Given the description of an element on the screen output the (x, y) to click on. 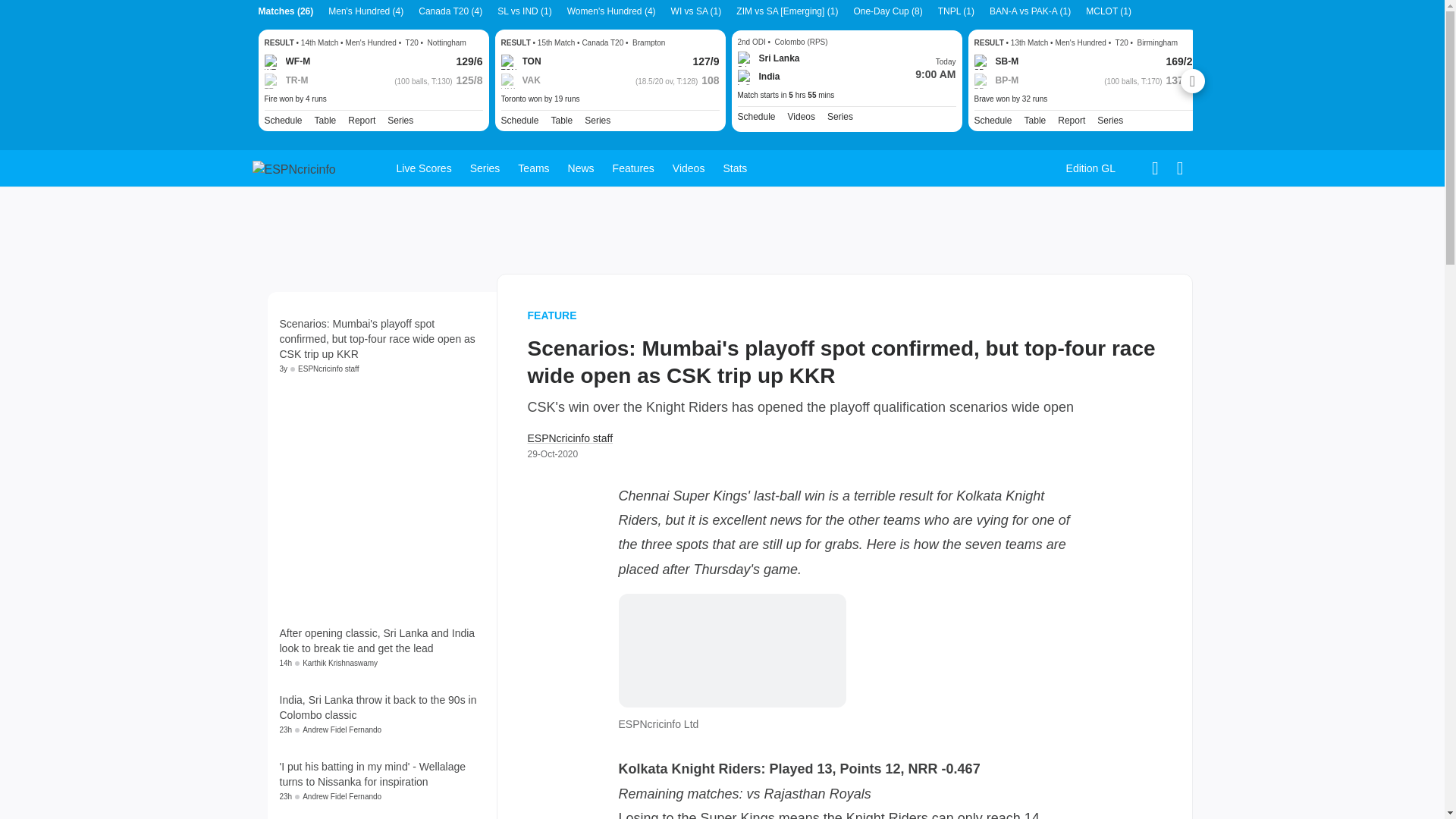
SB-M (995, 61)
Series (1109, 120)
Report (361, 120)
Schedule (282, 120)
SL vs IND - 2nd ODI (845, 94)
Videos (801, 116)
Table (562, 120)
Report (1071, 120)
Schedule (519, 120)
Table (325, 120)
TR-M (285, 79)
The Hundred Men's Competition (400, 120)
Schedule (519, 120)
Series (400, 120)
India tour of Sri Lanka (840, 116)
